Given the description of an element on the screen output the (x, y) to click on. 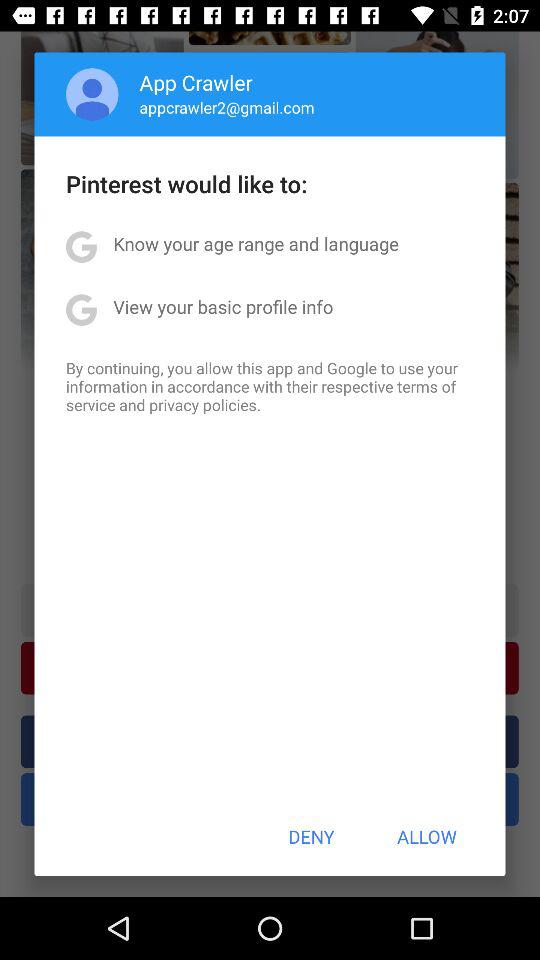
press button at the bottom (311, 836)
